Given the description of an element on the screen output the (x, y) to click on. 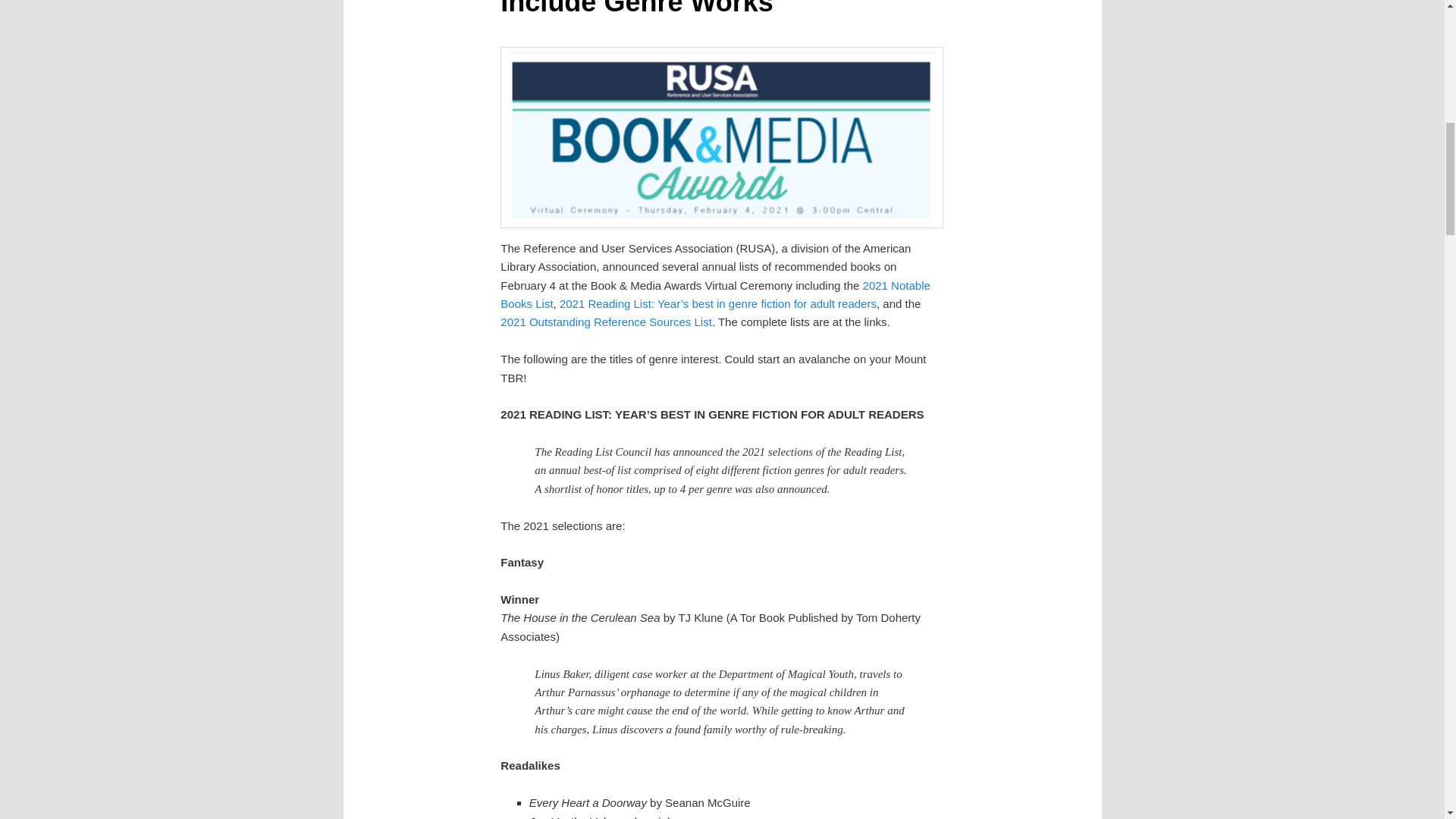
2021 Outstanding Reference Sources List (605, 321)
2021 Notable Books List (715, 294)
